Given the description of an element on the screen output the (x, y) to click on. 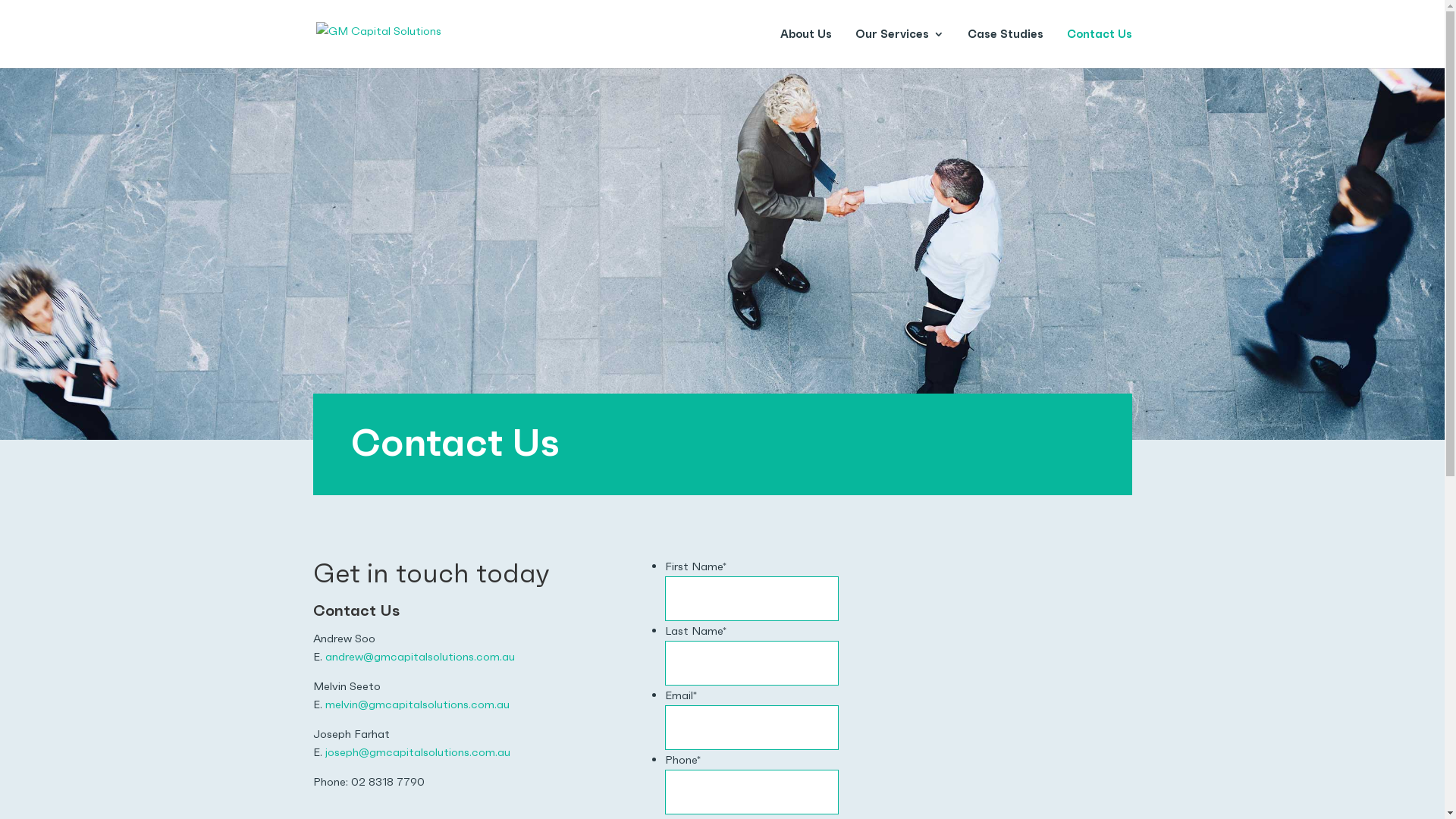
Case Studies Element type: text (1005, 48)
andrew@gmcapitalsolutions.com.au Element type: text (419, 656)
About Us Element type: text (805, 48)
Our Services Element type: text (899, 48)
melvin@gmcapitalsolutions.com.au Element type: text (416, 703)
joseph@gmcapitalsolutions.com.au Element type: text (416, 751)
Contact Us Element type: text (1098, 48)
